Given the description of an element on the screen output the (x, y) to click on. 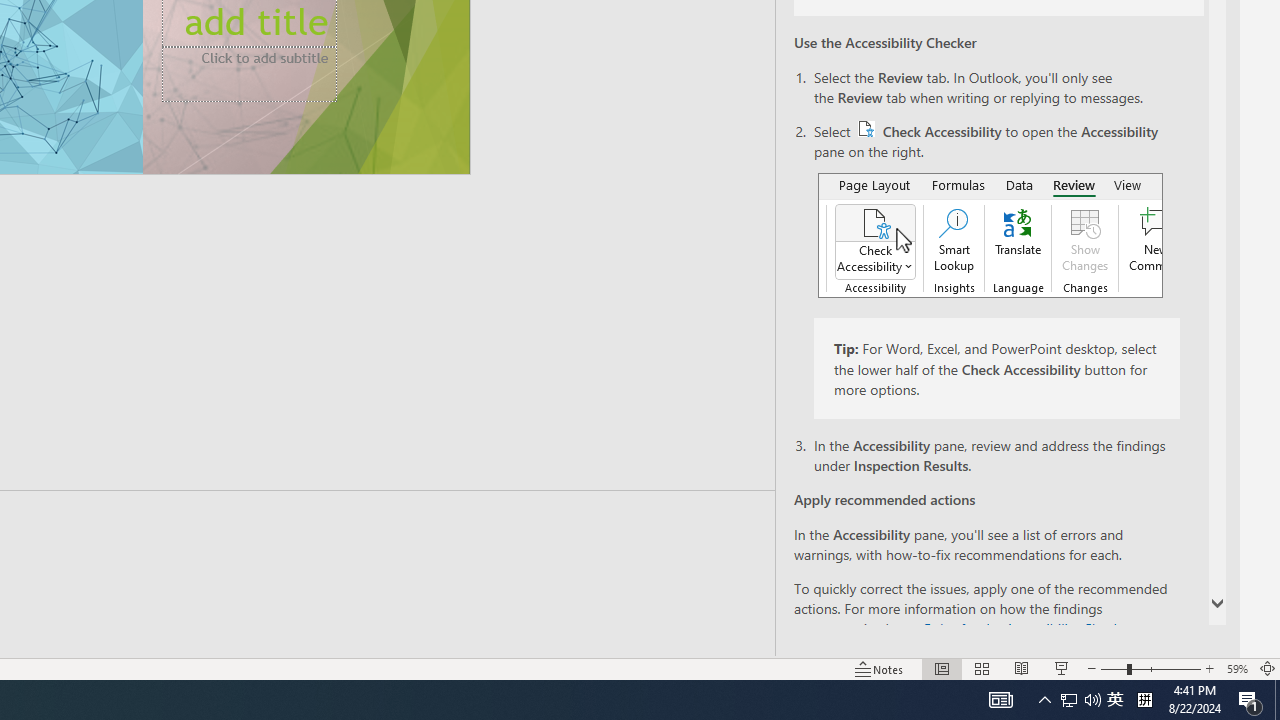
Zoom 59% (1236, 668)
Rules for the Accessibility Checker (1025, 628)
Check accessibility button (866, 128)
Accessibility checker button on ribbon (990, 235)
